Given the description of an element on the screen output the (x, y) to click on. 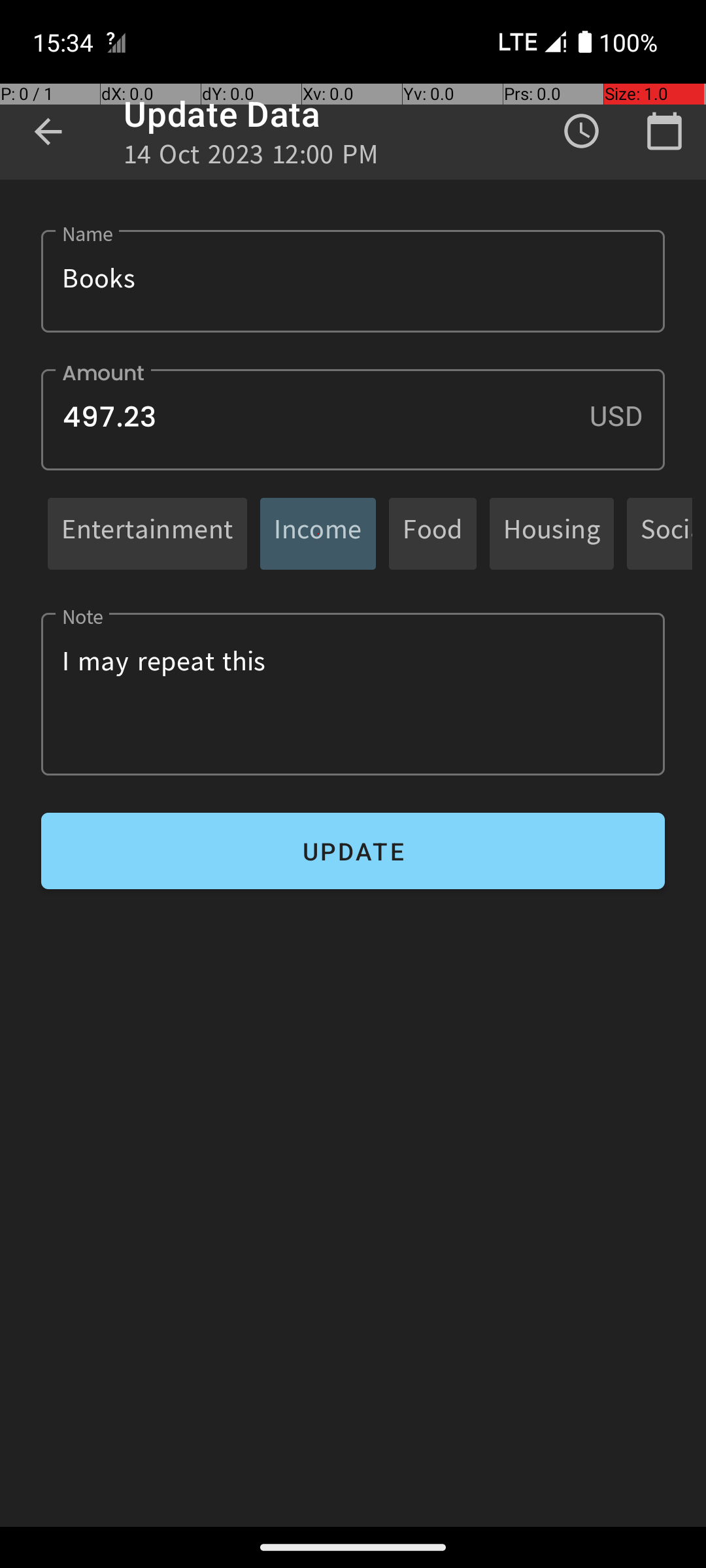
14 Oct 2023 12:00 PM Element type: android.widget.TextView (250, 157)
Books Element type: android.widget.EditText (352, 280)
497.23 Element type: android.widget.EditText (352, 419)
